Given the description of an element on the screen output the (x, y) to click on. 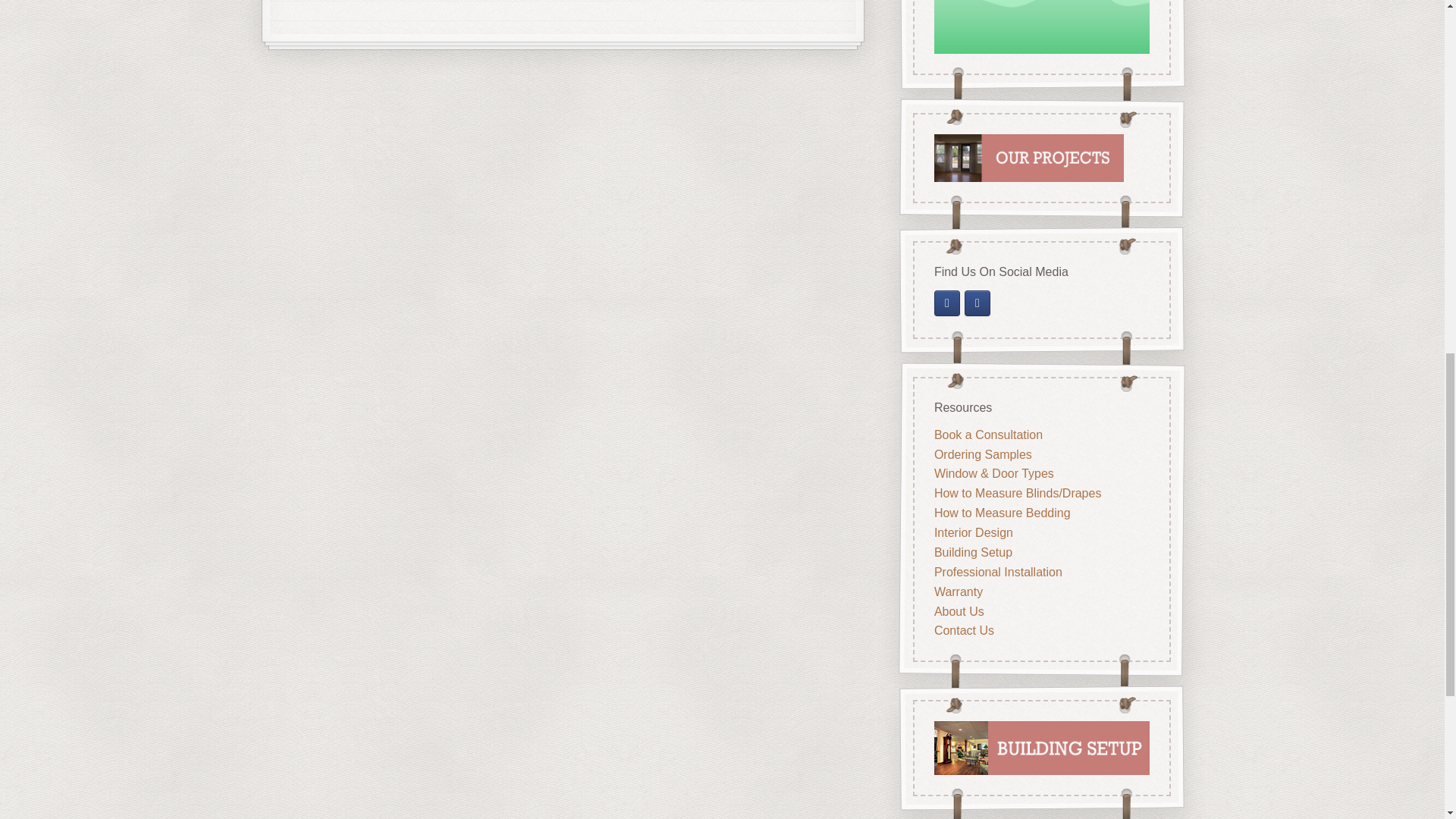
Interior Images on Facebook (946, 303)
Interior Images Brandon (976, 303)
